Given the description of an element on the screen output the (x, y) to click on. 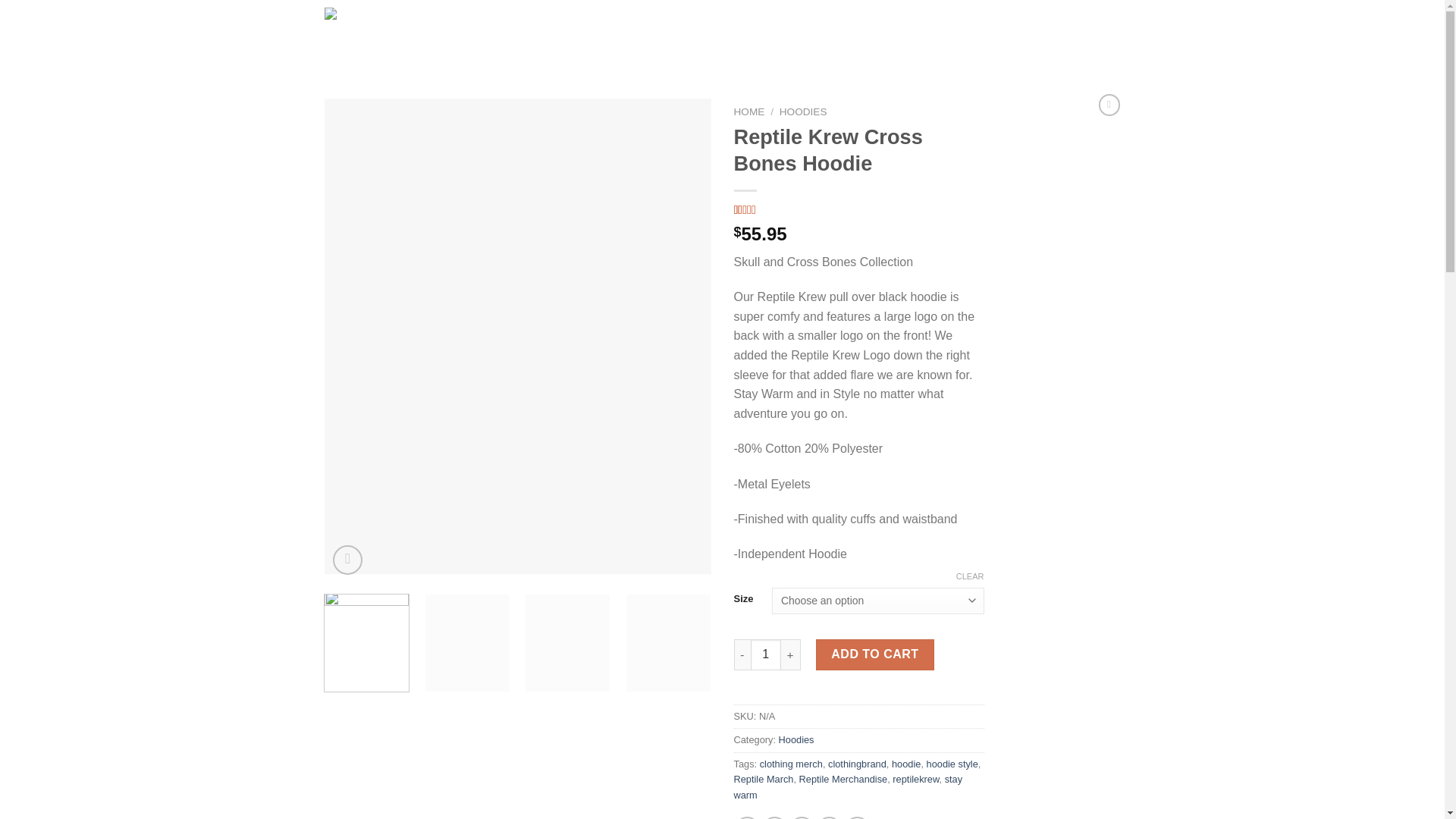
LOGIN (991, 33)
Share on Facebook (747, 817)
clothing merch (791, 763)
HOODIES (802, 111)
HOME (618, 19)
ABOUT (625, 49)
Hoodies (795, 739)
ADD TO CART (874, 654)
Email to a Friend (801, 817)
hoodie style (952, 763)
